Given the description of an element on the screen output the (x, y) to click on. 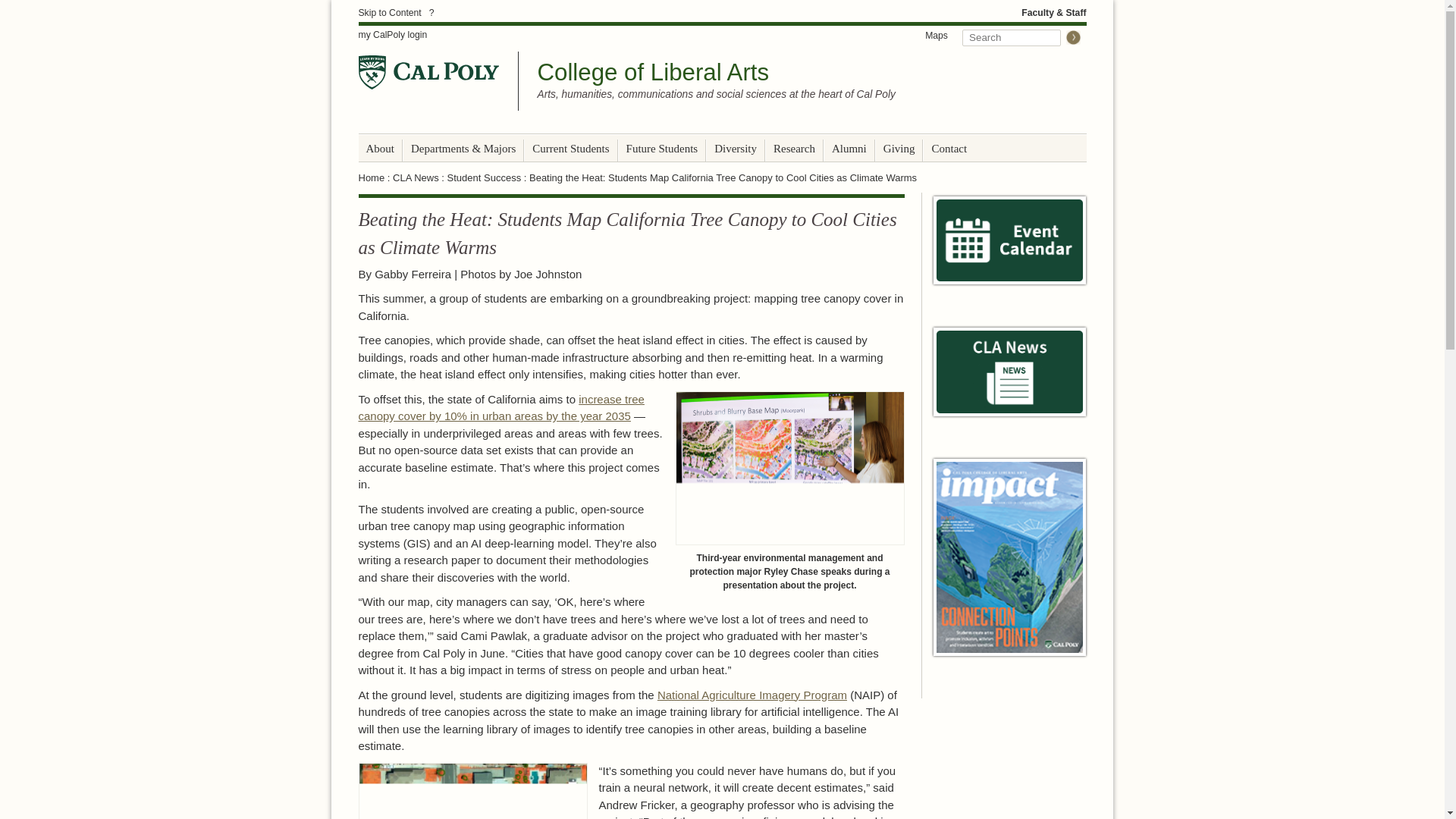
Maps (936, 35)
Search Form (1021, 36)
my CalPoly login (392, 34)
skip to content (389, 12)
Example of an image that is floated to the left side (472, 790)
Example of an image that is floated to the right side (789, 468)
College of Liberal Arts (652, 72)
my CalPoly login (392, 34)
Current Students (570, 148)
